Given the description of an element on the screen output the (x, y) to click on. 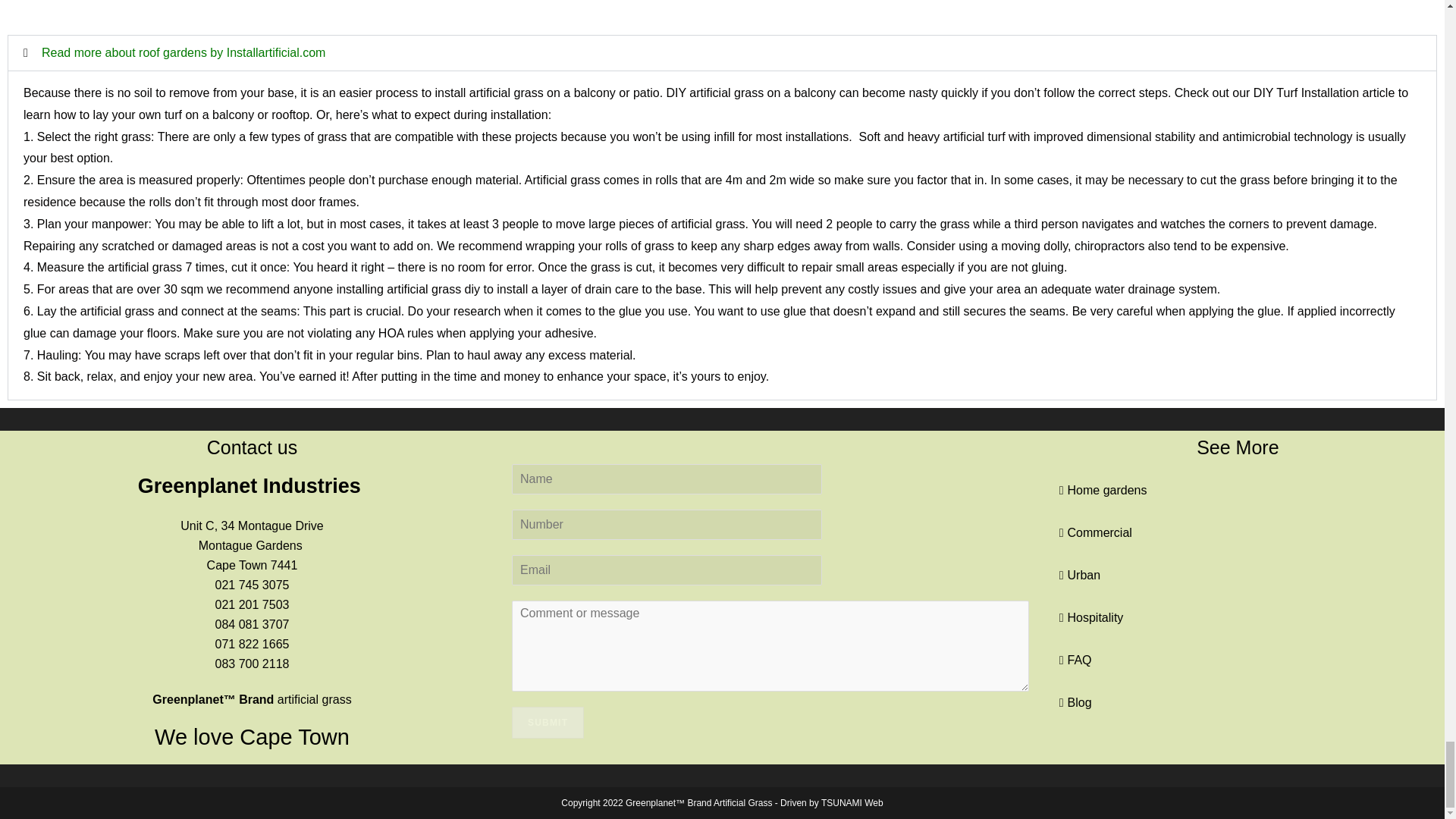
Commercial (1095, 533)
Cape Town (236, 564)
Hospitality (1090, 617)
We love Cape Town (251, 736)
FAQ (1074, 660)
Read more about roof gardens by Installartificial.com (183, 51)
Urban (1079, 574)
SUBMIT (547, 722)
Home gardens (1102, 490)
